Given the description of an element on the screen output the (x, y) to click on. 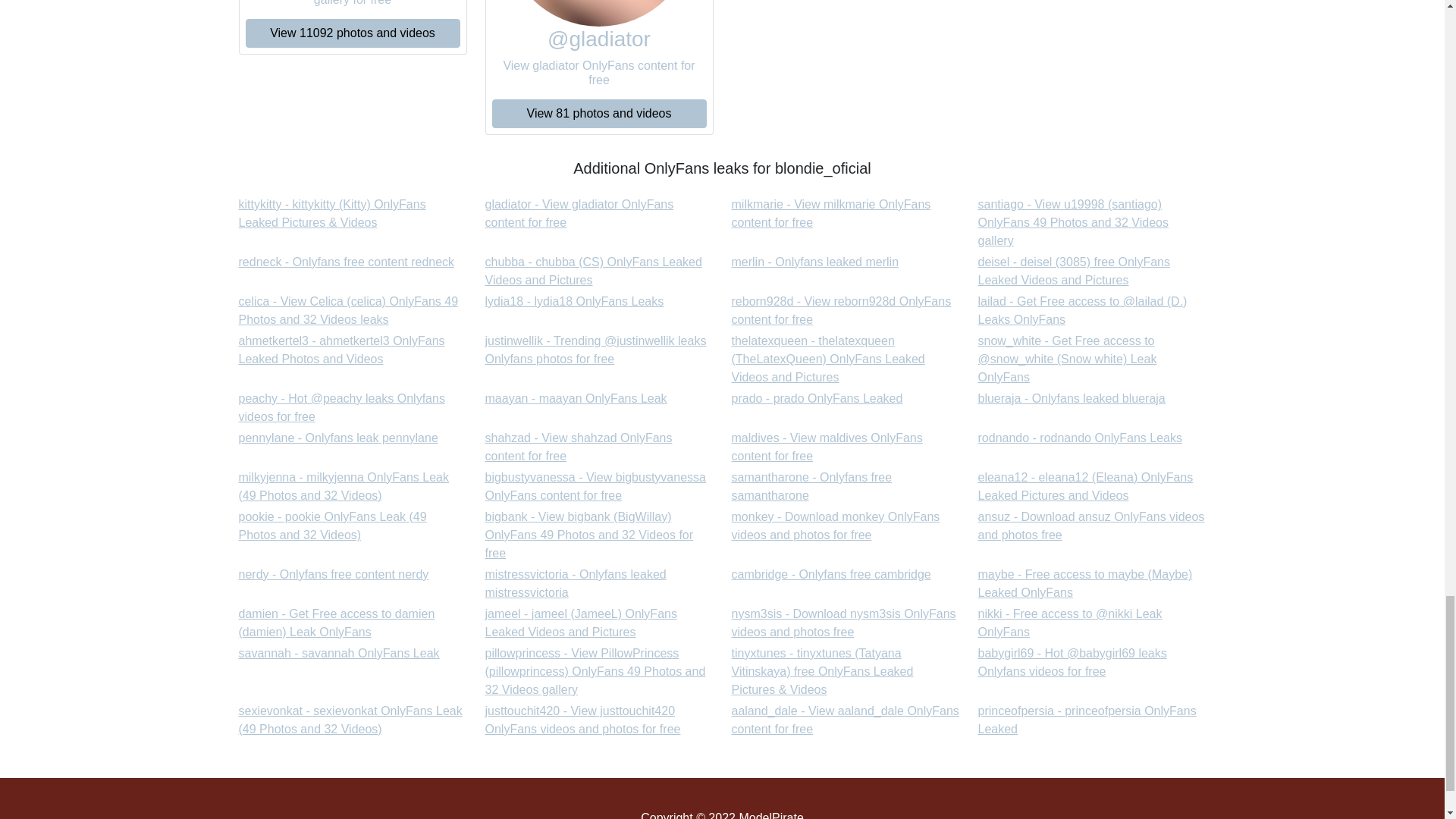
merlin - Onlyfans leaked merlin (814, 261)
gladiator - View gladiator OnlyFans content for free (575, 398)
milkmarie - View milkmarie OnlyFans content for free (579, 213)
redneck - Onlyfans free content redneck (579, 213)
lydia18 - lydia18 OnlyFans Leaks (346, 261)
reborn928d - View reborn928d OnlyFans content for free (830, 213)
